Given the description of an element on the screen output the (x, y) to click on. 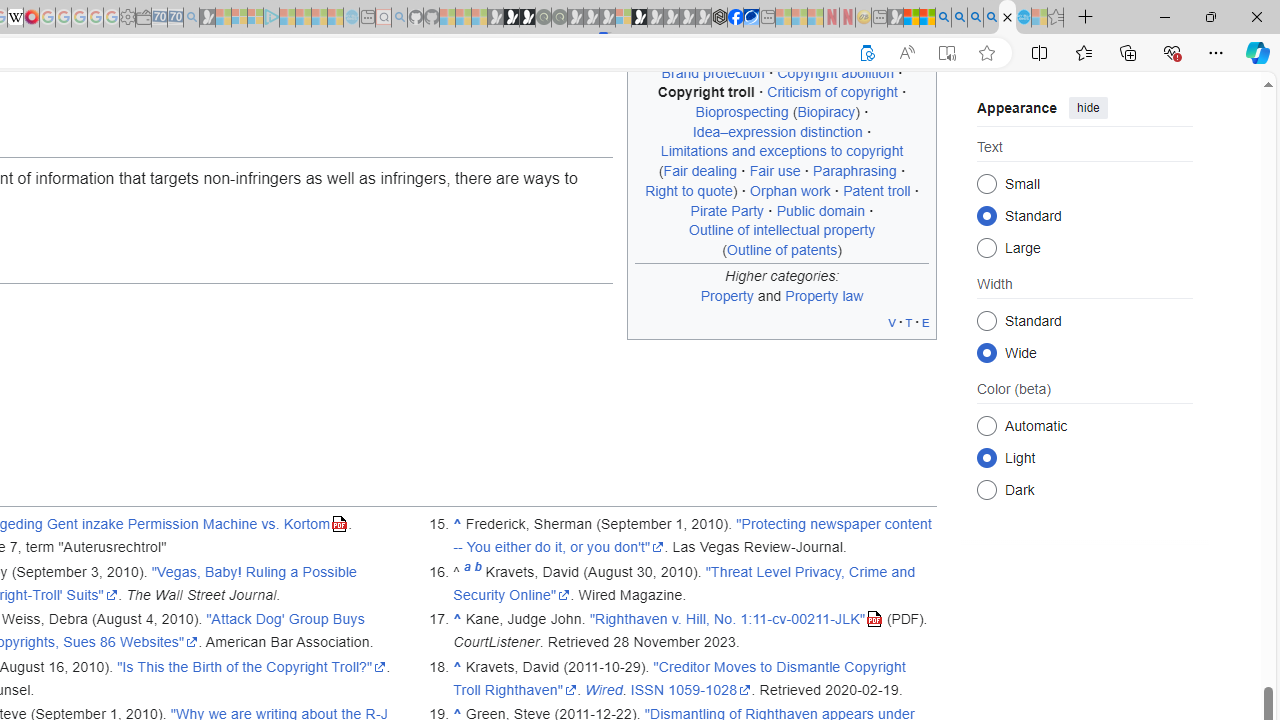
e (925, 322)
"Is This the Birth of the Copyright Troll?" (251, 666)
github - Search - Sleeping (399, 17)
Fair use (774, 171)
1059-1028 (710, 689)
Future Focus Report 2024 - Sleeping (559, 17)
"Creditor Moves to Dismantle Copyright Troll Righthaven" (679, 677)
